Given the description of an element on the screen output the (x, y) to click on. 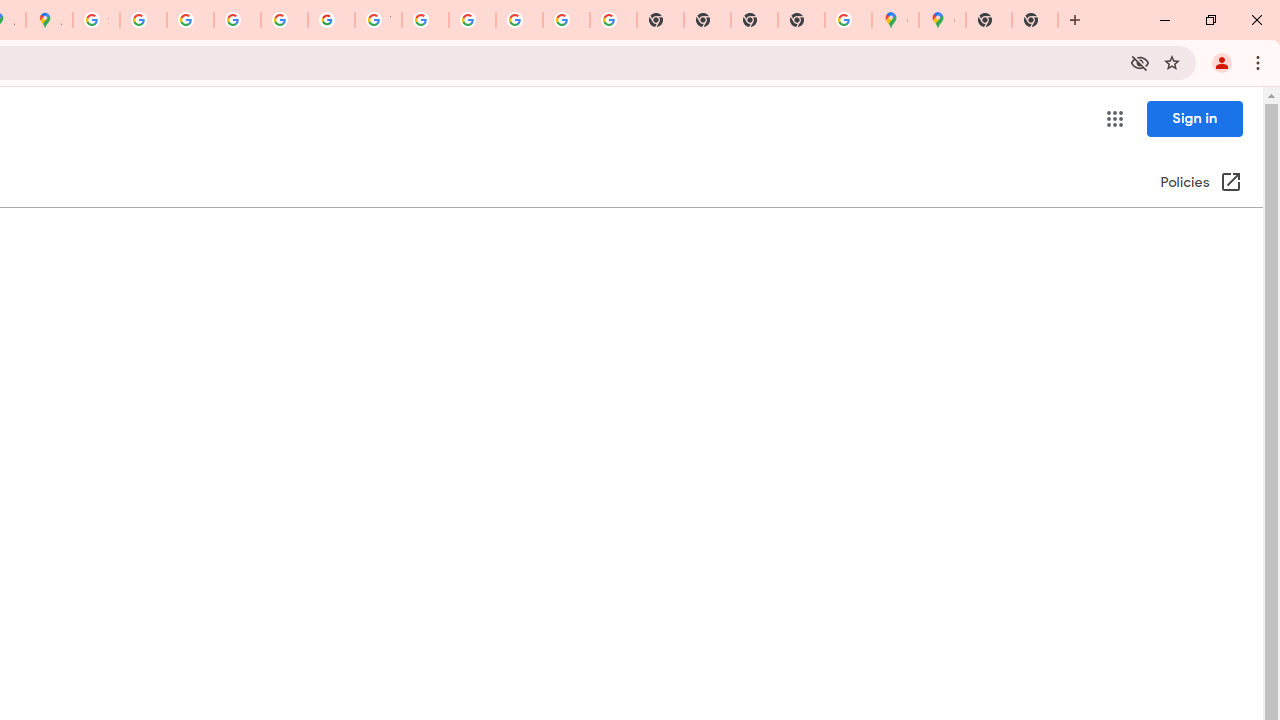
Privacy Help Center - Policies Help (237, 20)
